Given the description of an element on the screen output the (x, y) to click on. 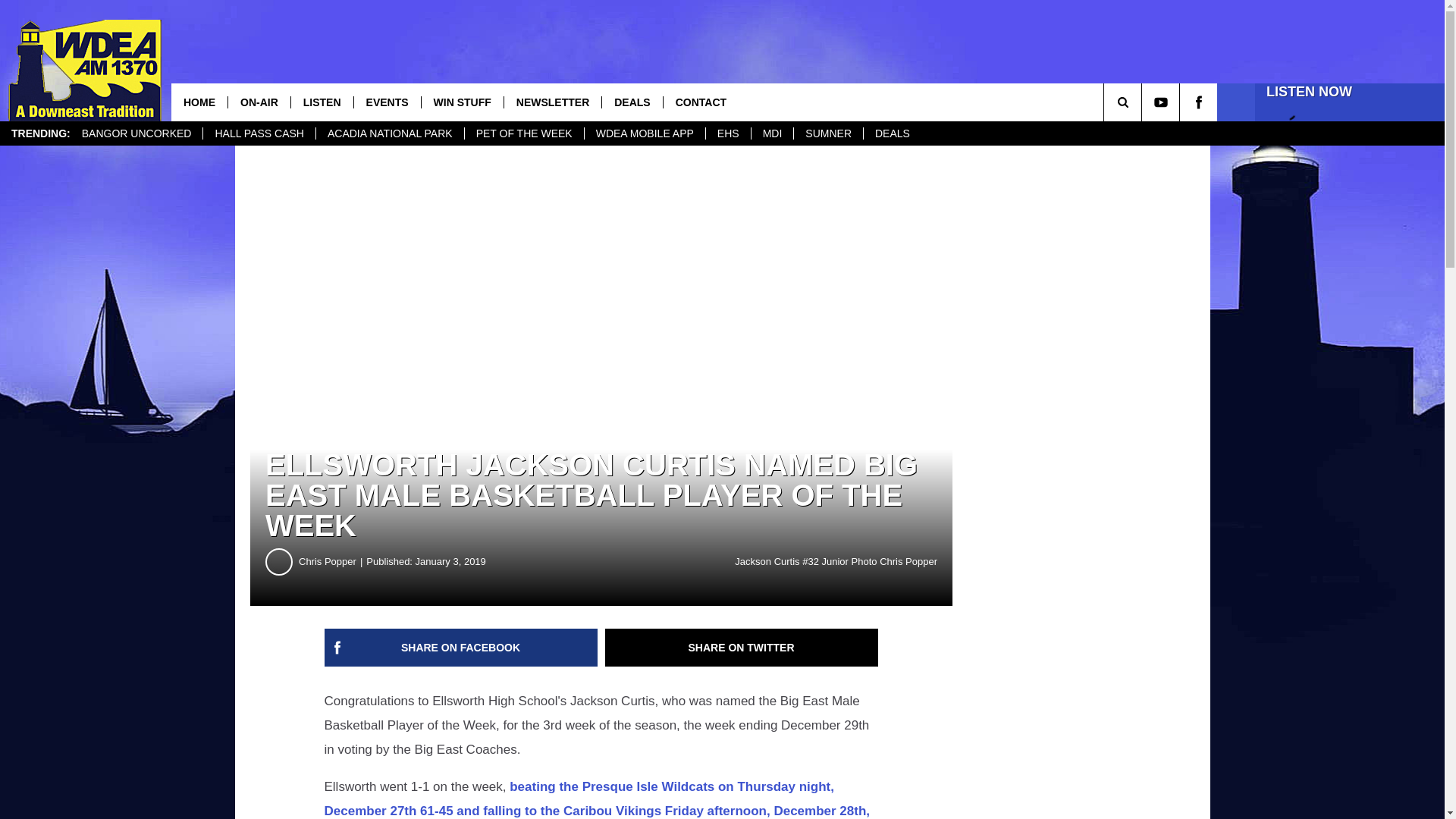
ACADIA NATIONAL PARK (389, 133)
Share on Facebook (460, 647)
WDEA MOBILE APP (643, 133)
CONTACT (700, 102)
HOME (199, 102)
DEALS (892, 133)
SEARCH (1144, 102)
Share on Twitter (741, 647)
LISTEN (321, 102)
MDI (772, 133)
